Given the description of an element on the screen output the (x, y) to click on. 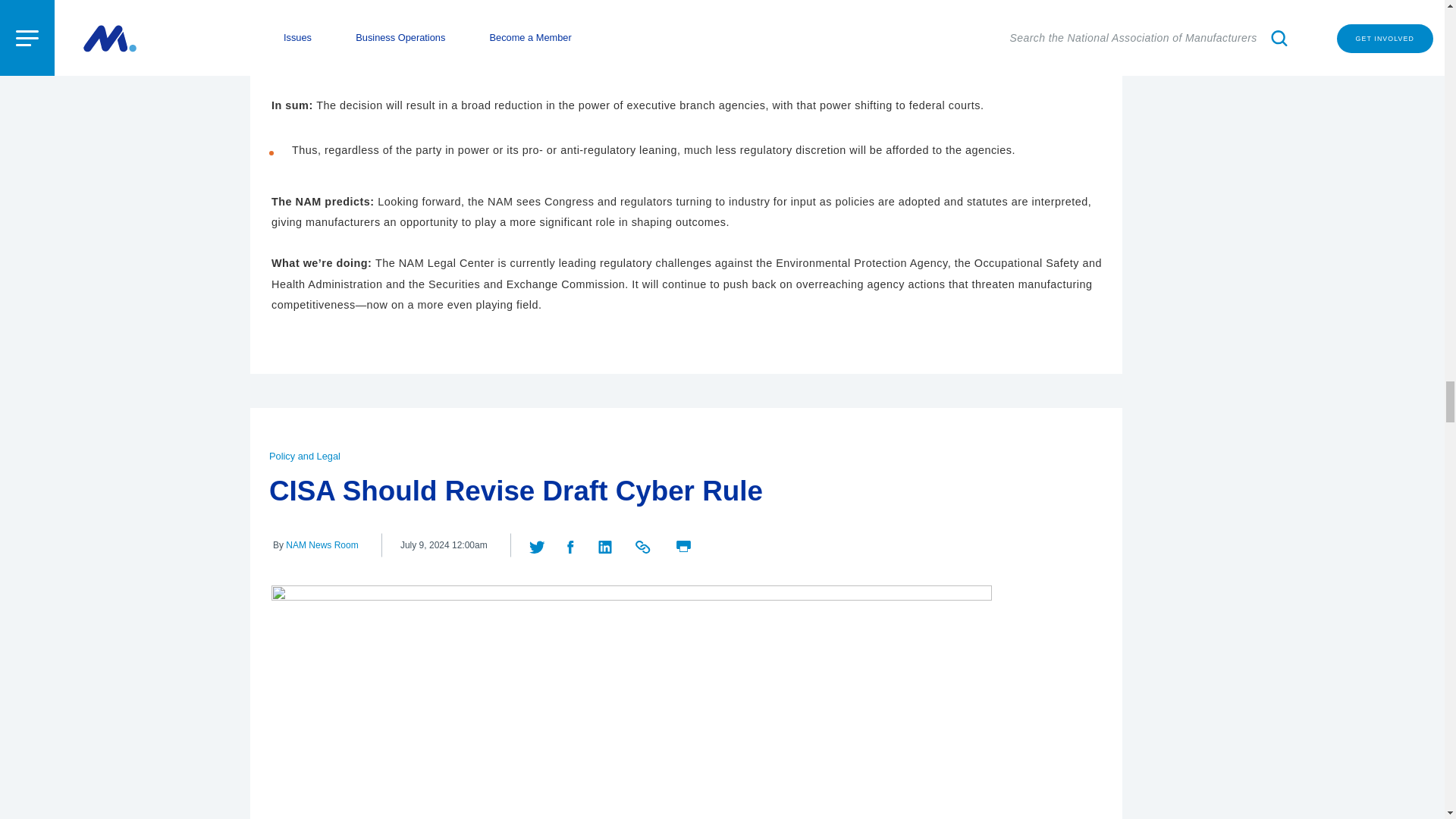
Tuesday, July 9th at 12:00am (443, 545)
